Given the description of an element on the screen output the (x, y) to click on. 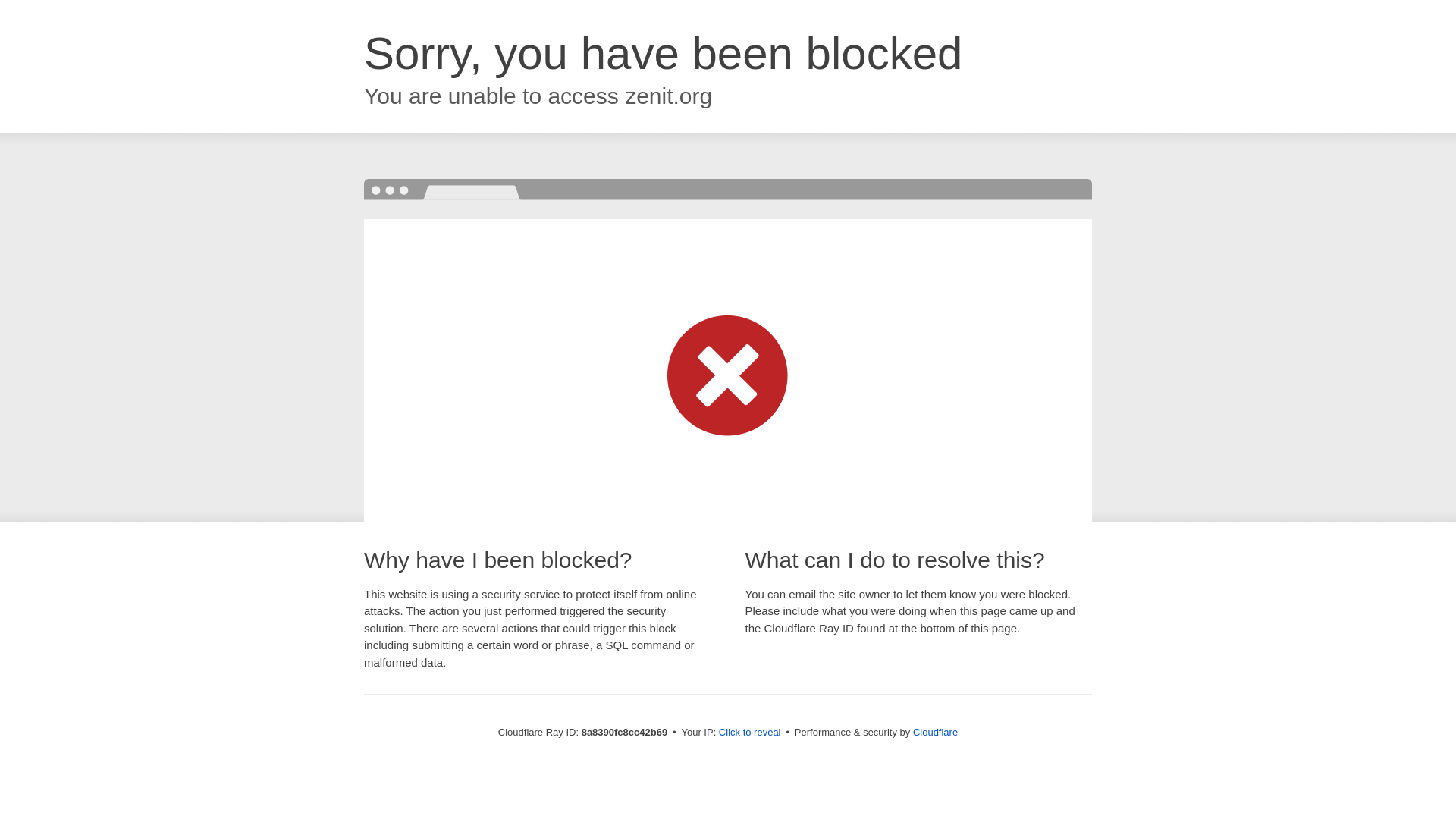
Click to reveal (749, 732)
Cloudflare (935, 731)
